Given the description of an element on the screen output the (x, y) to click on. 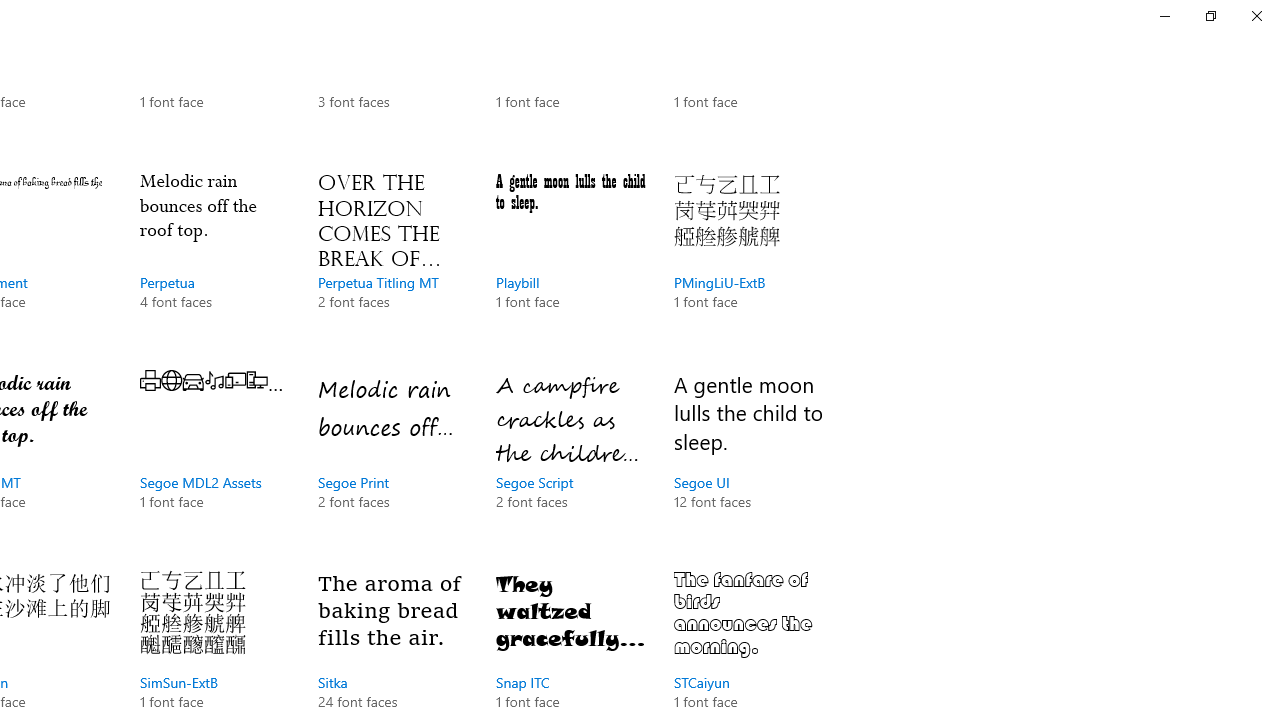
Segoe UI, 12 font faces (748, 460)
